Given the description of an element on the screen output the (x, y) to click on. 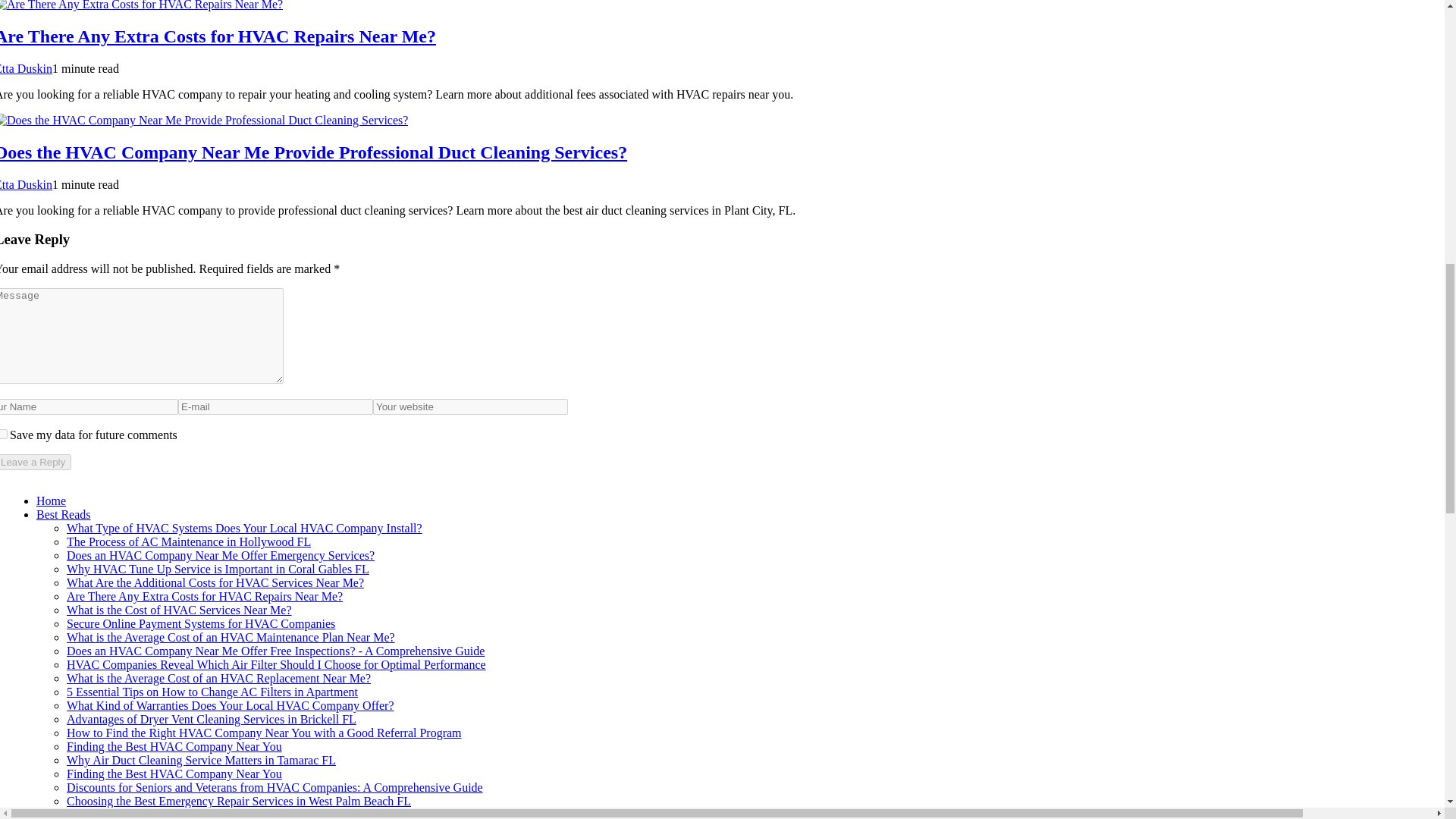
The Process of AC Maintenance in Hollywood FL (188, 541)
What Are the Additional Costs for HVAC Services Near Me? (215, 582)
What is the Cost of HVAC Services Near Me? (179, 609)
Are There Any Extra Costs for HVAC Repairs Near Me? (204, 595)
Home (50, 500)
Does an HVAC Company Near Me Offer Emergency Services? (220, 554)
Are There Any Extra Costs for HVAC Repairs Near Me? (217, 35)
Posts by Etta Duskin (26, 68)
